Given the description of an element on the screen output the (x, y) to click on. 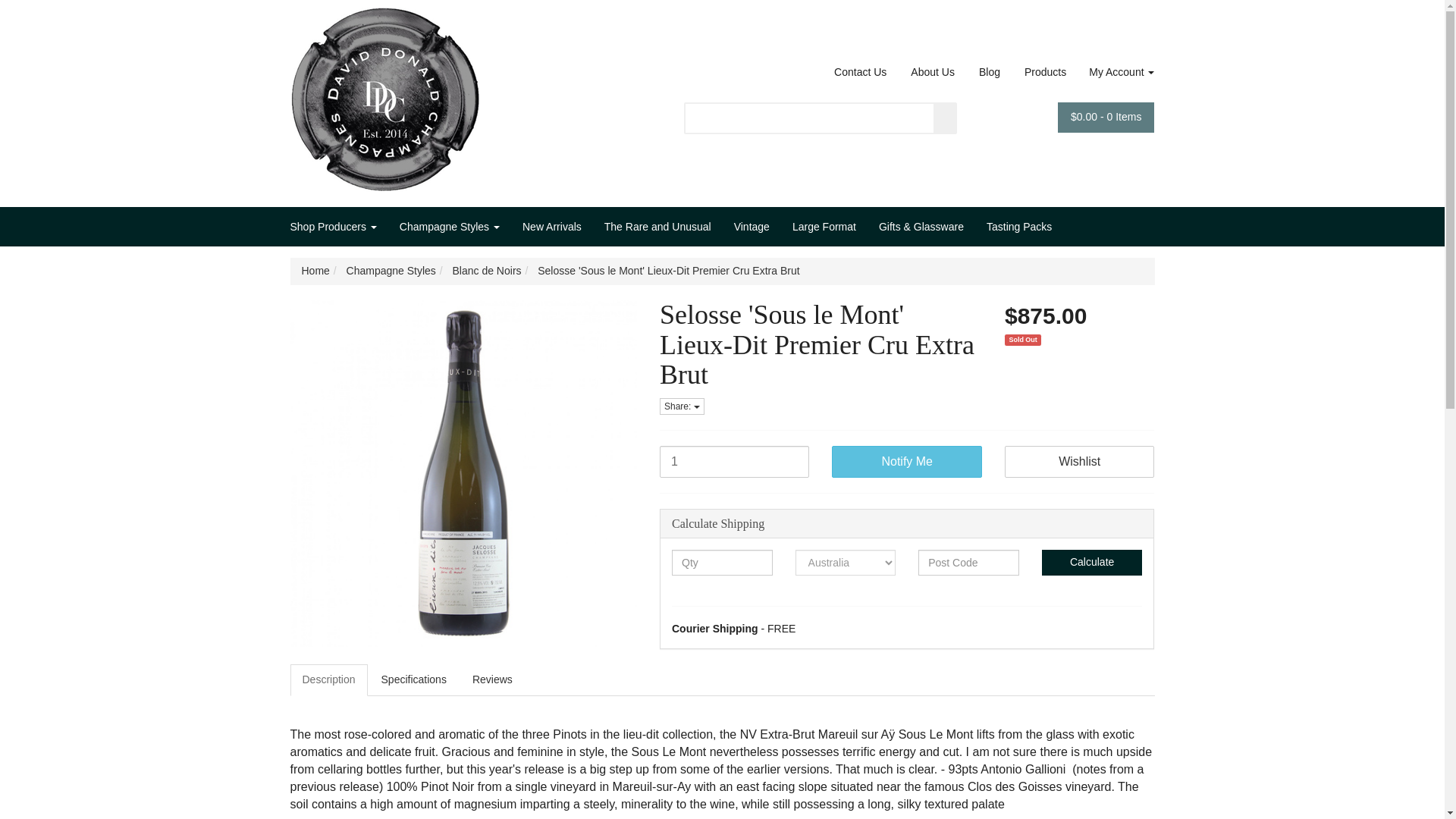
Calculate (1092, 562)
About Us (932, 72)
David Donald Champagnes (384, 94)
Search (945, 118)
Products (1045, 72)
Blog (989, 72)
1 (734, 461)
Add To Wishlist (1079, 461)
Shop Producers (338, 226)
My Account (1115, 72)
Contact Us (860, 72)
